Given the description of an element on the screen output the (x, y) to click on. 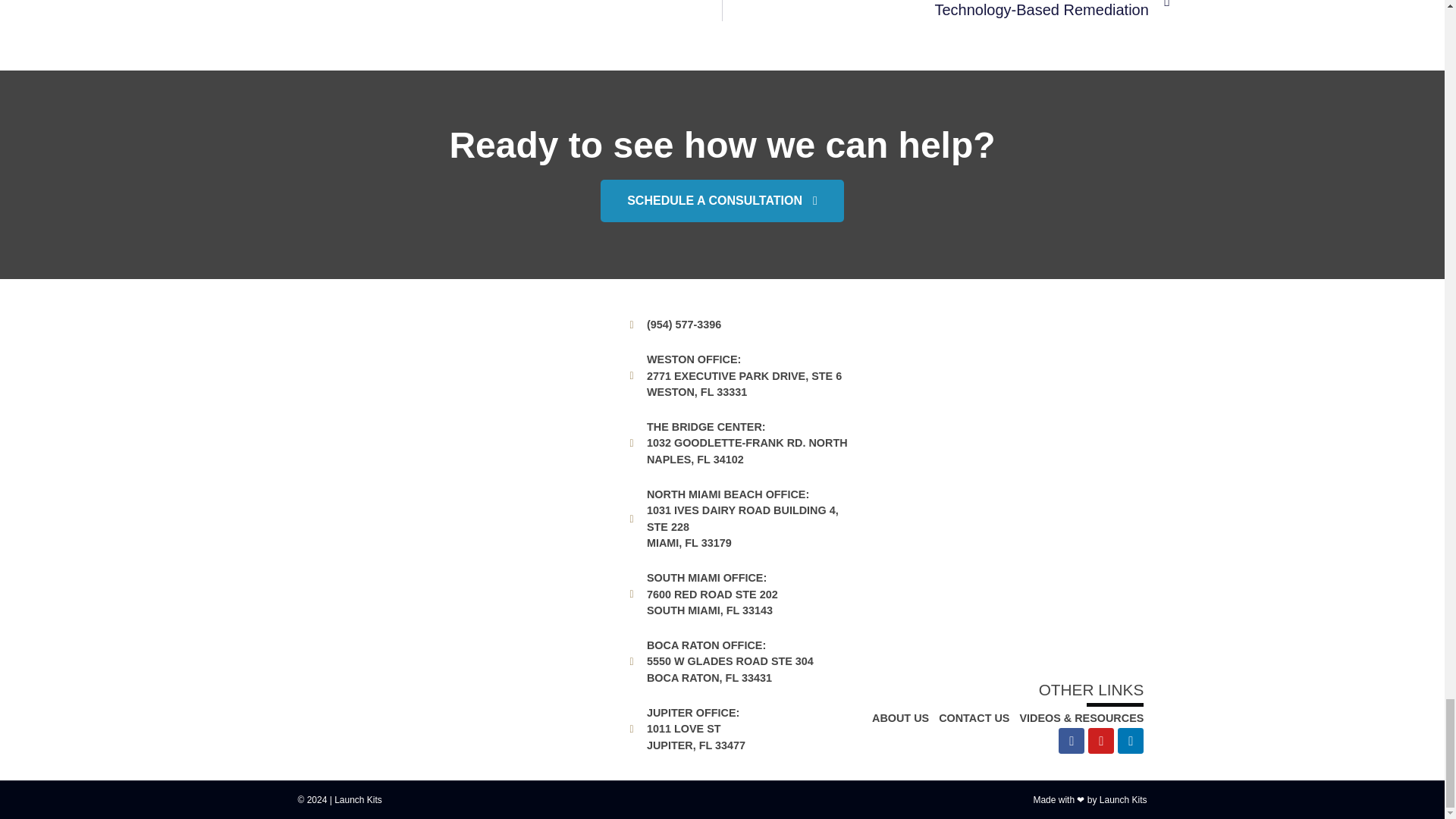
SCHEDULE A CONSULTATION (721, 200)
